Given the description of an element on the screen output the (x, y) to click on. 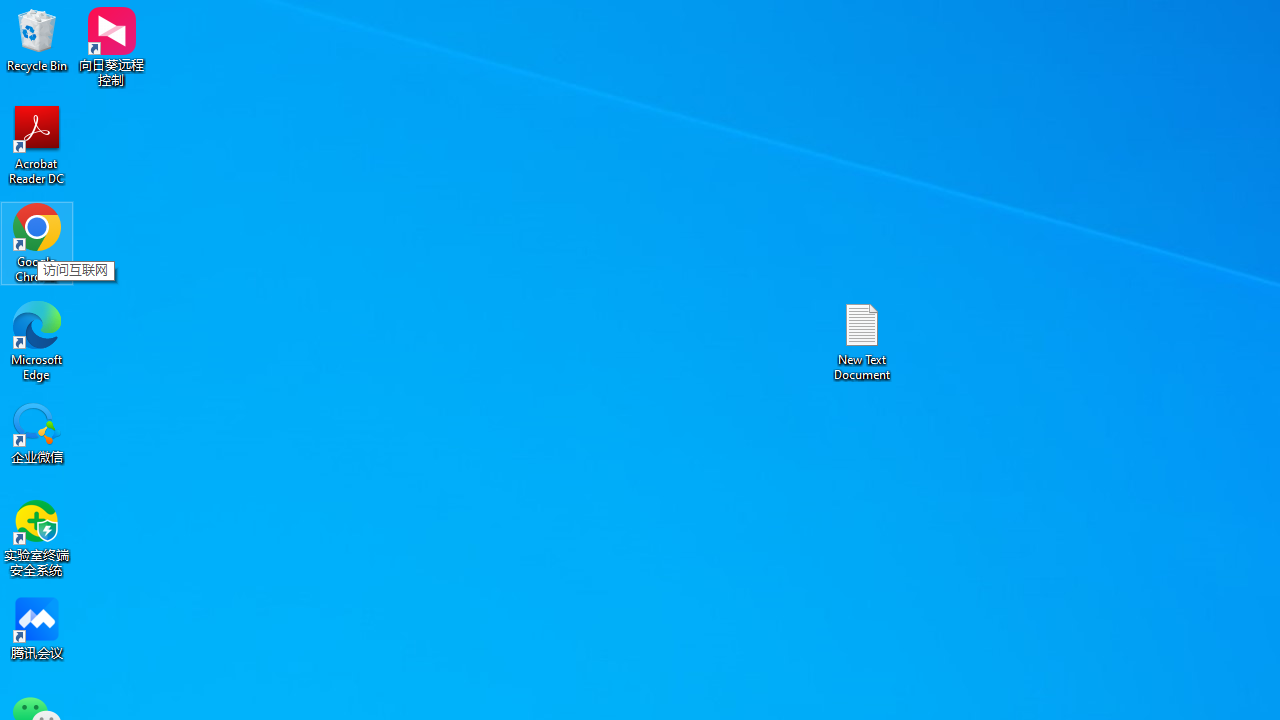
Google Chrome (37, 242)
New Text Document (861, 340)
Recycle Bin (37, 39)
Acrobat Reader DC (37, 144)
Microsoft Edge (37, 340)
